Given the description of an element on the screen output the (x, y) to click on. 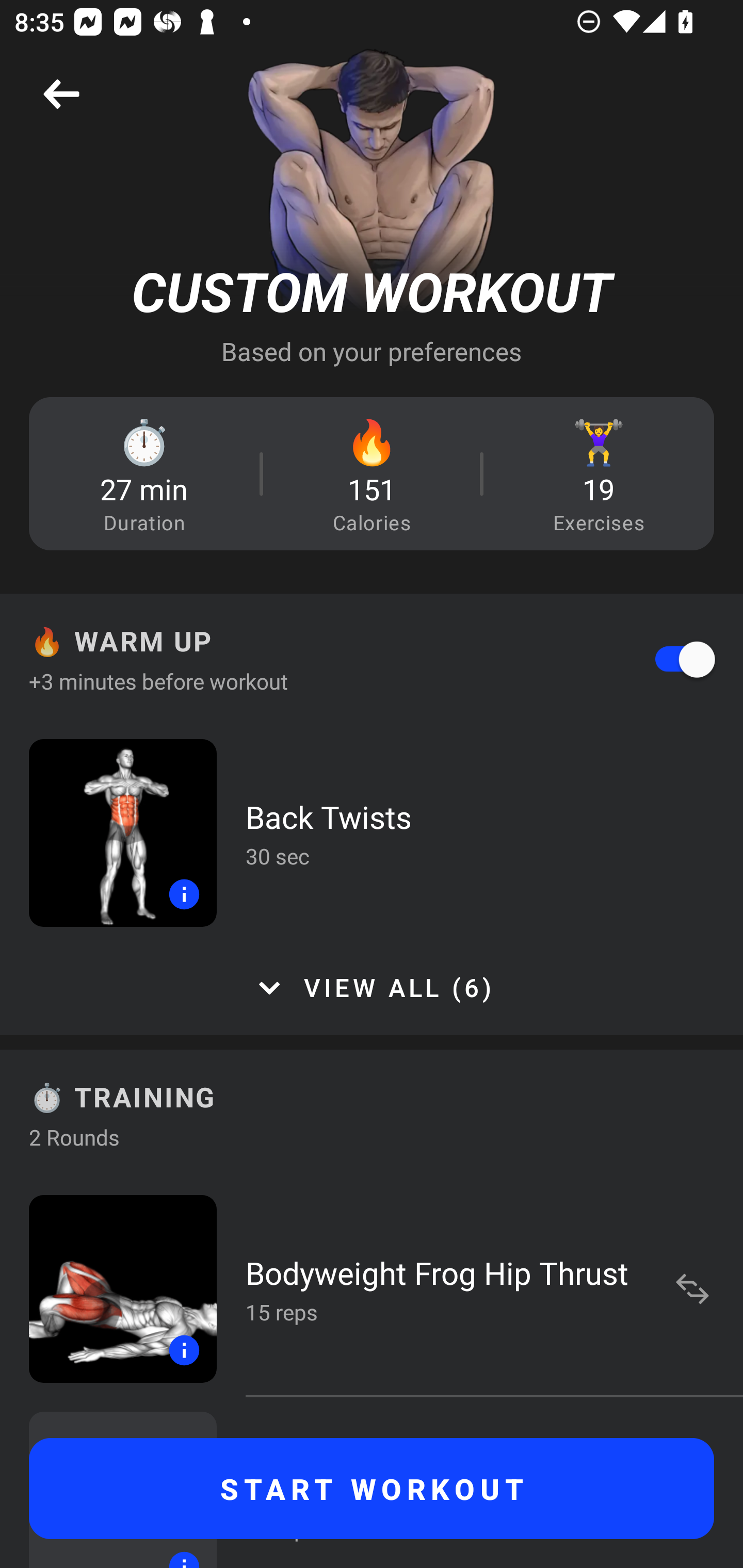
Back Twists 30 sec (371, 832)
VIEW ALL (6) (371, 987)
Bodyweight Frog Hip Thrust 15 reps (371, 1288)
START WORKOUT (371, 1488)
